Given the description of an element on the screen output the (x, y) to click on. 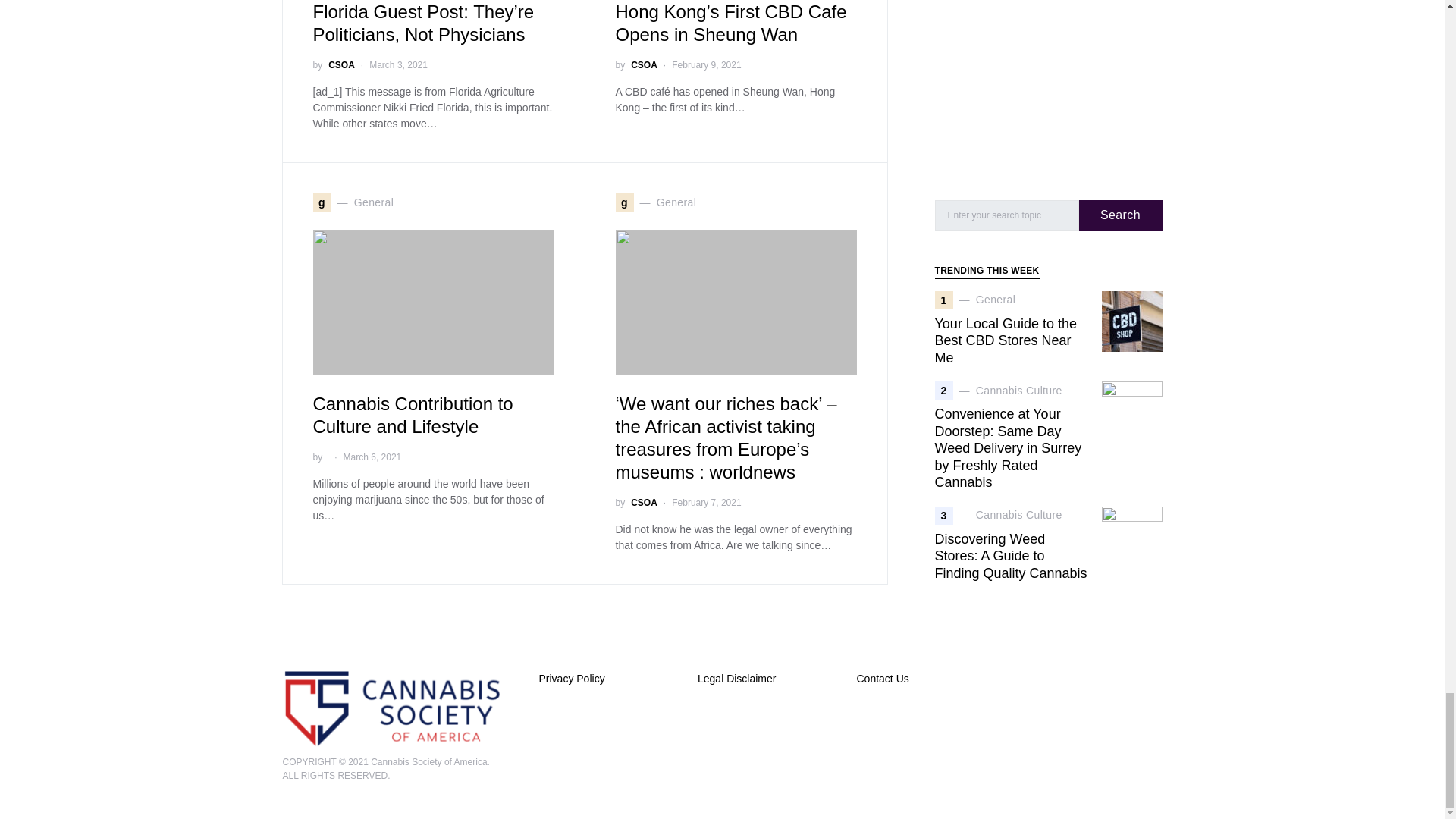
View all posts by CSOA (644, 502)
View all posts by CSOA (342, 65)
View all posts by CSOA (644, 65)
